Given the description of an element on the screen output the (x, y) to click on. 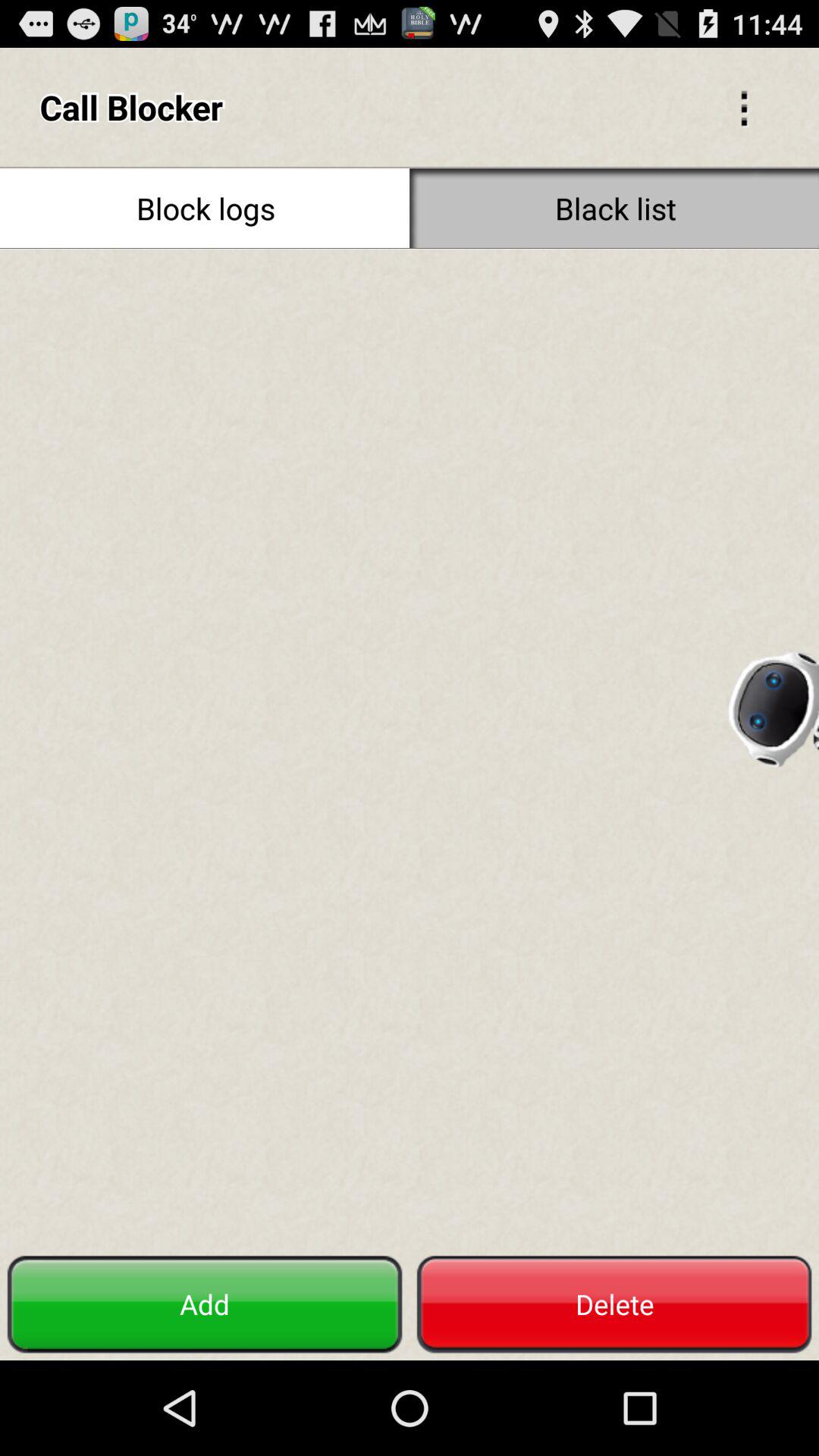
click icon at the top left corner (204, 207)
